Given the description of an element on the screen output the (x, y) to click on. 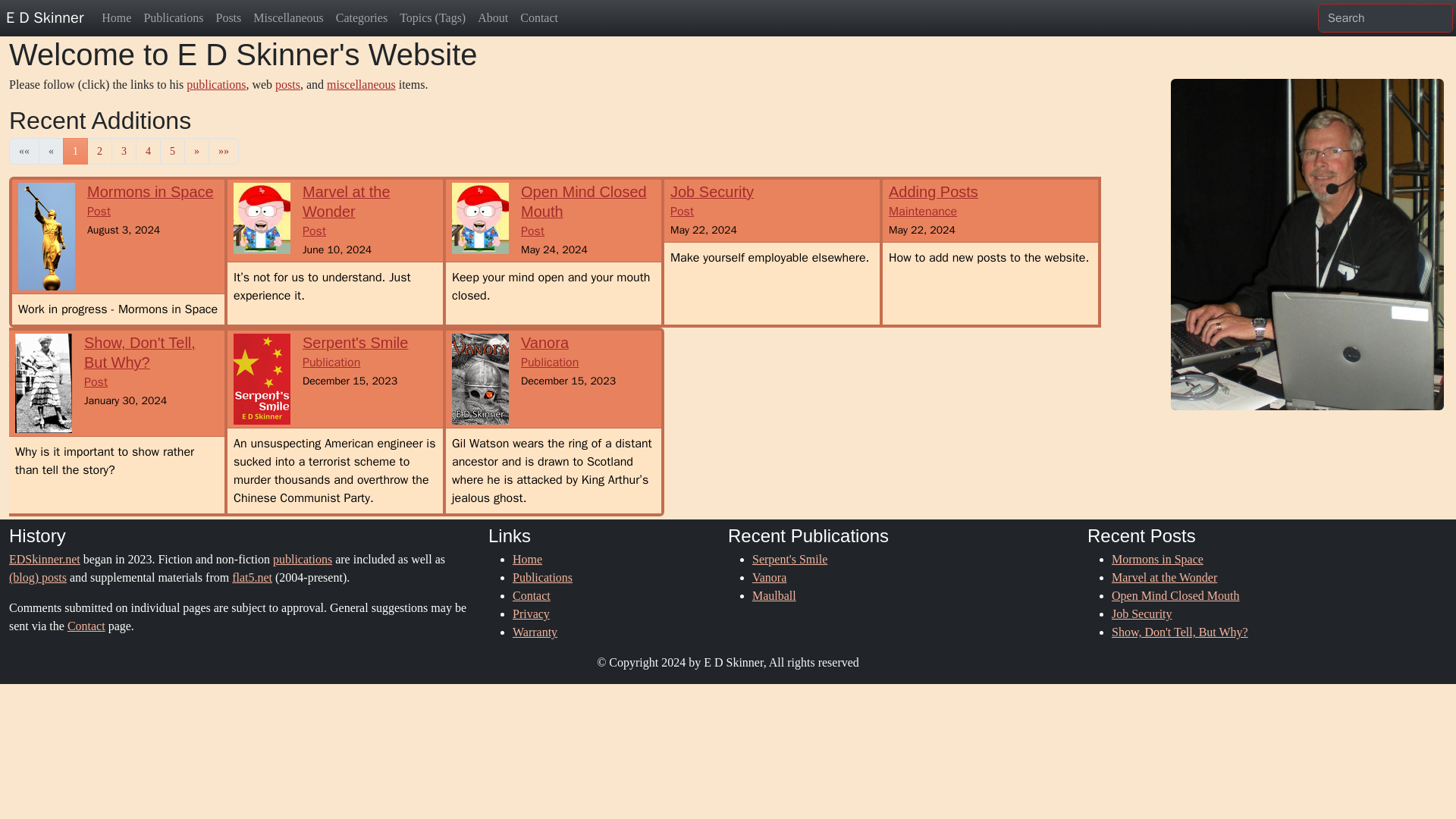
flat5.net (251, 576)
Contact (711, 202)
Publications (531, 594)
Categories (542, 576)
publications (361, 18)
Home (346, 212)
Privacy (302, 558)
EDSkinner.net (526, 558)
Contact (531, 613)
Miscellaneous (354, 353)
3 (44, 558)
